Given the description of an element on the screen output the (x, y) to click on. 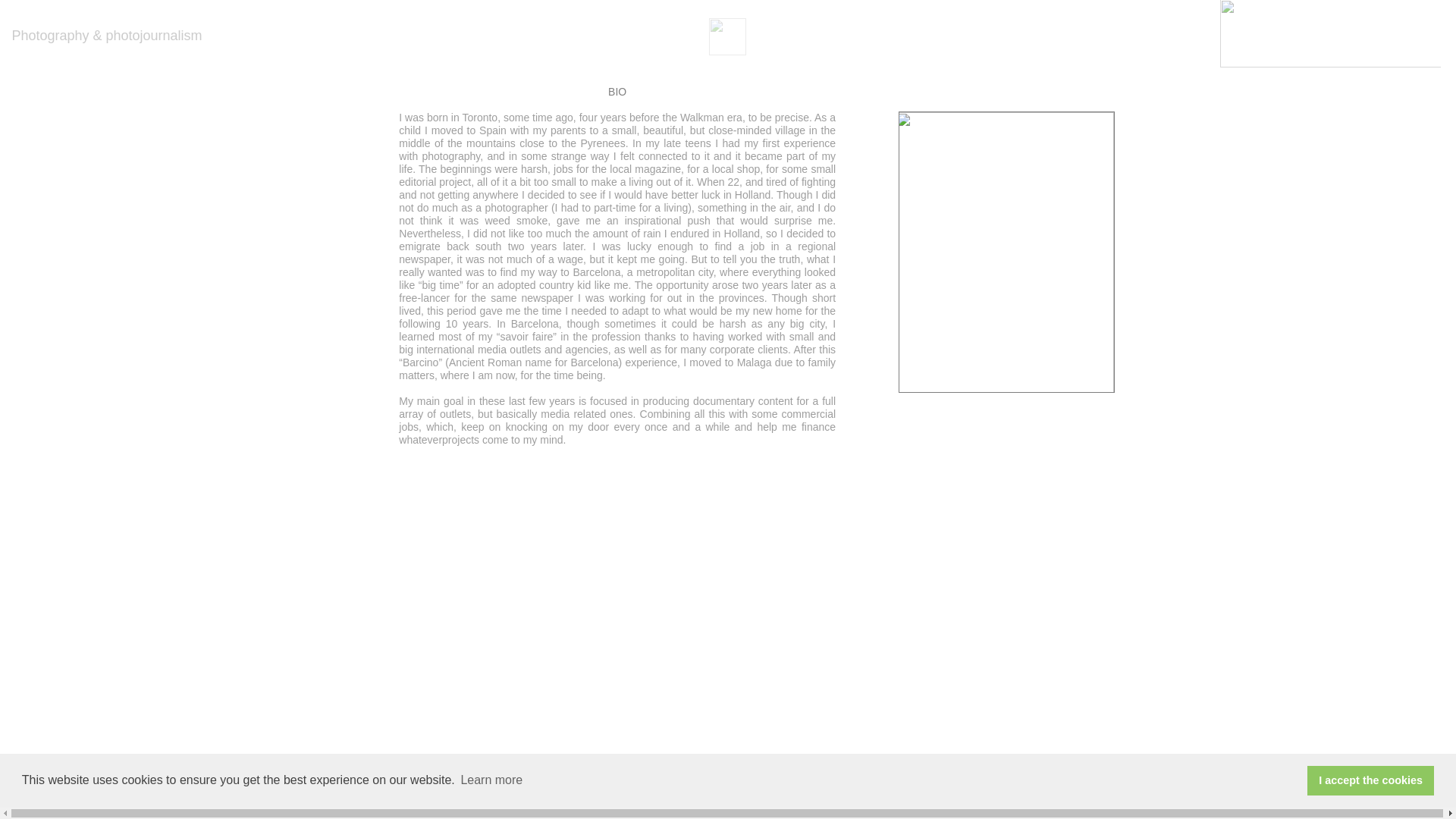
I accept the cookies (1370, 779)
Privacy (856, 808)
Learn more (491, 779)
Terms and conditions (772, 808)
